Given the description of an element on the screen output the (x, y) to click on. 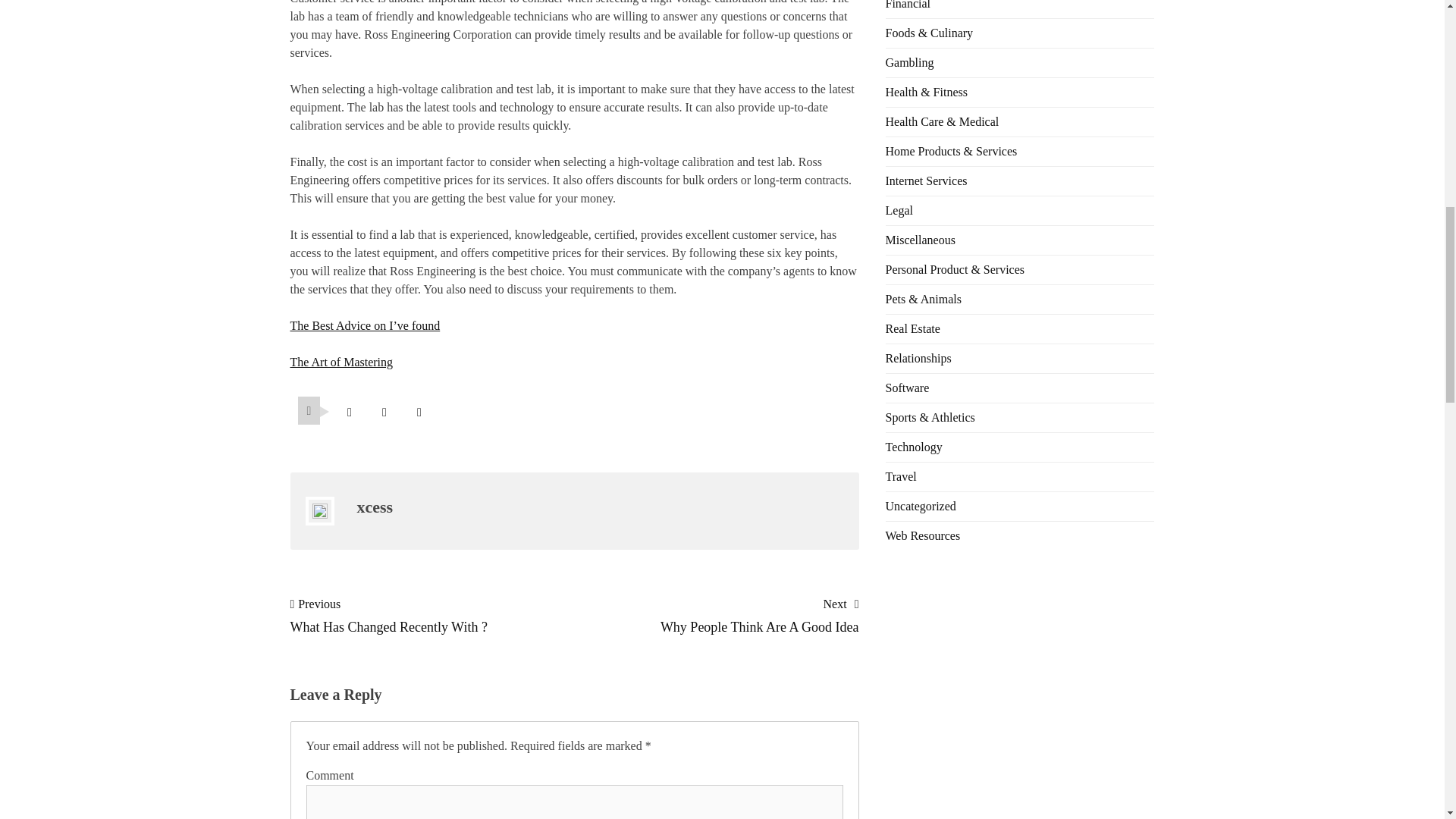
Miscellaneous (920, 239)
Share on Linkedin (419, 411)
Internet Services (926, 180)
Gambling (909, 62)
Tweet This! (349, 411)
Financial (908, 4)
Share on Facebook (384, 411)
Legal (898, 210)
Real Estate (912, 328)
